Given the description of an element on the screen output the (x, y) to click on. 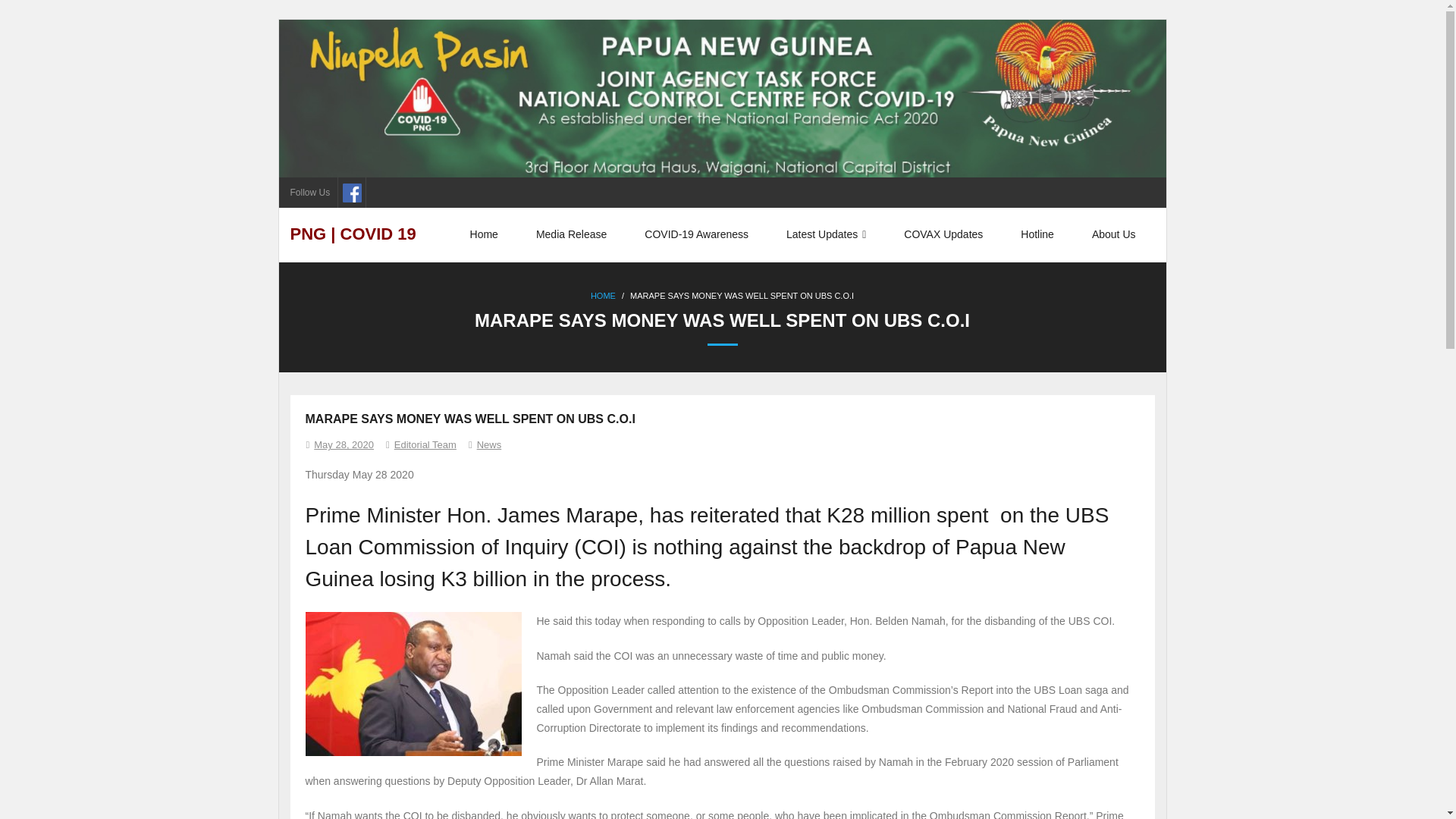
Marape says money was well spent on UBS C.O.I (344, 444)
View all posts by Editorial Team (425, 444)
Editorial Team (425, 444)
COVID-19 Awareness (696, 234)
About Us (1113, 234)
News (489, 444)
May 28, 2020 (344, 444)
HOME (603, 295)
Media Release (571, 234)
Home (483, 234)
